Given the description of an element on the screen output the (x, y) to click on. 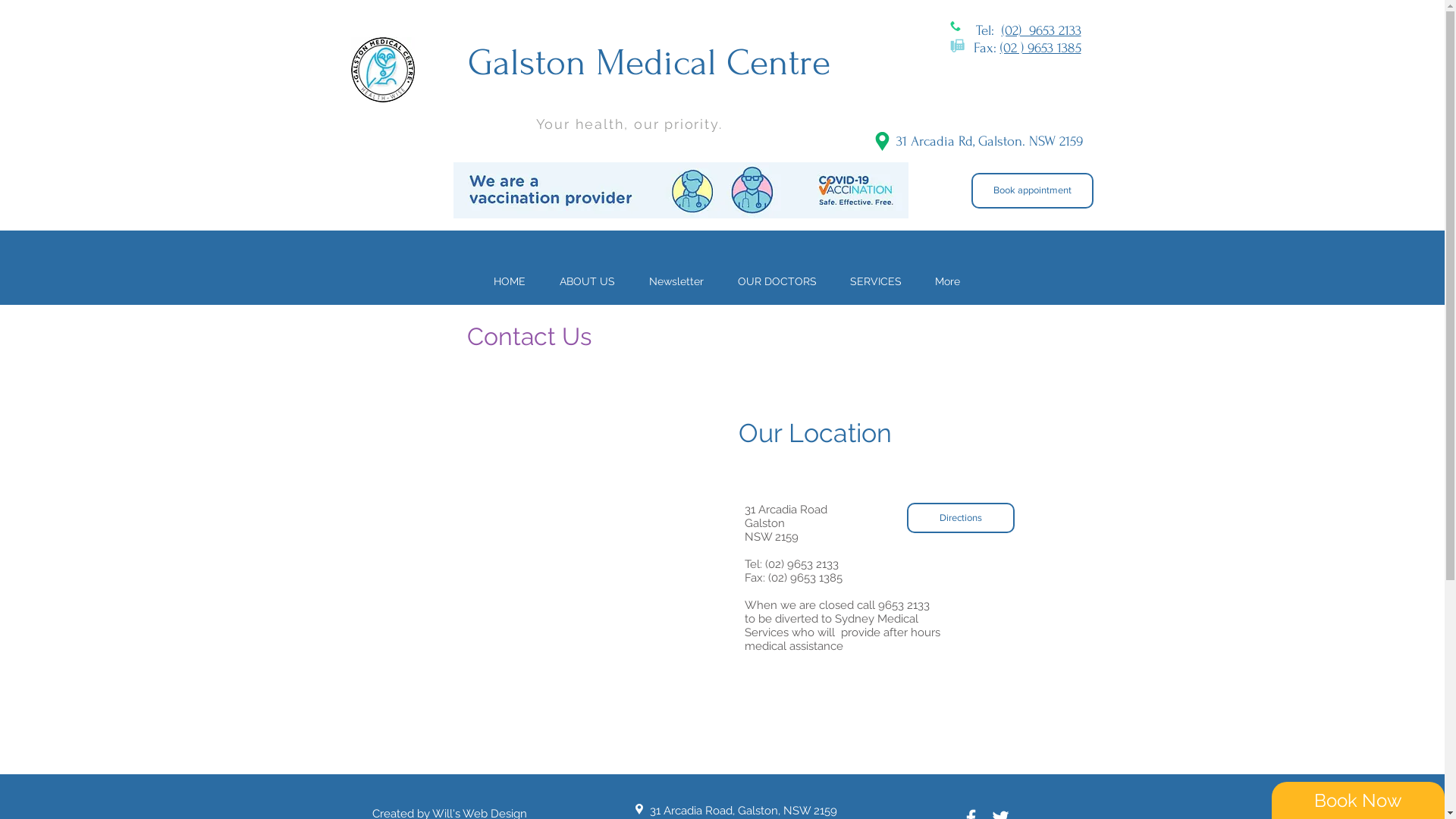
Newsletter Element type: text (676, 281)
Book appointment Element type: text (1031, 190)
Google Maps Element type: hover (378, 576)
OUR DOCTORS Element type: text (776, 281)
HOME Element type: text (509, 281)
Directions Element type: text (960, 517)
Galston Medical Centre Element type: text (648, 62)
ABOUT US Element type: text (587, 281)
SERVICES Element type: text (874, 281)
Your health, our priority. Element type: text (628, 123)
